Given the description of an element on the screen output the (x, y) to click on. 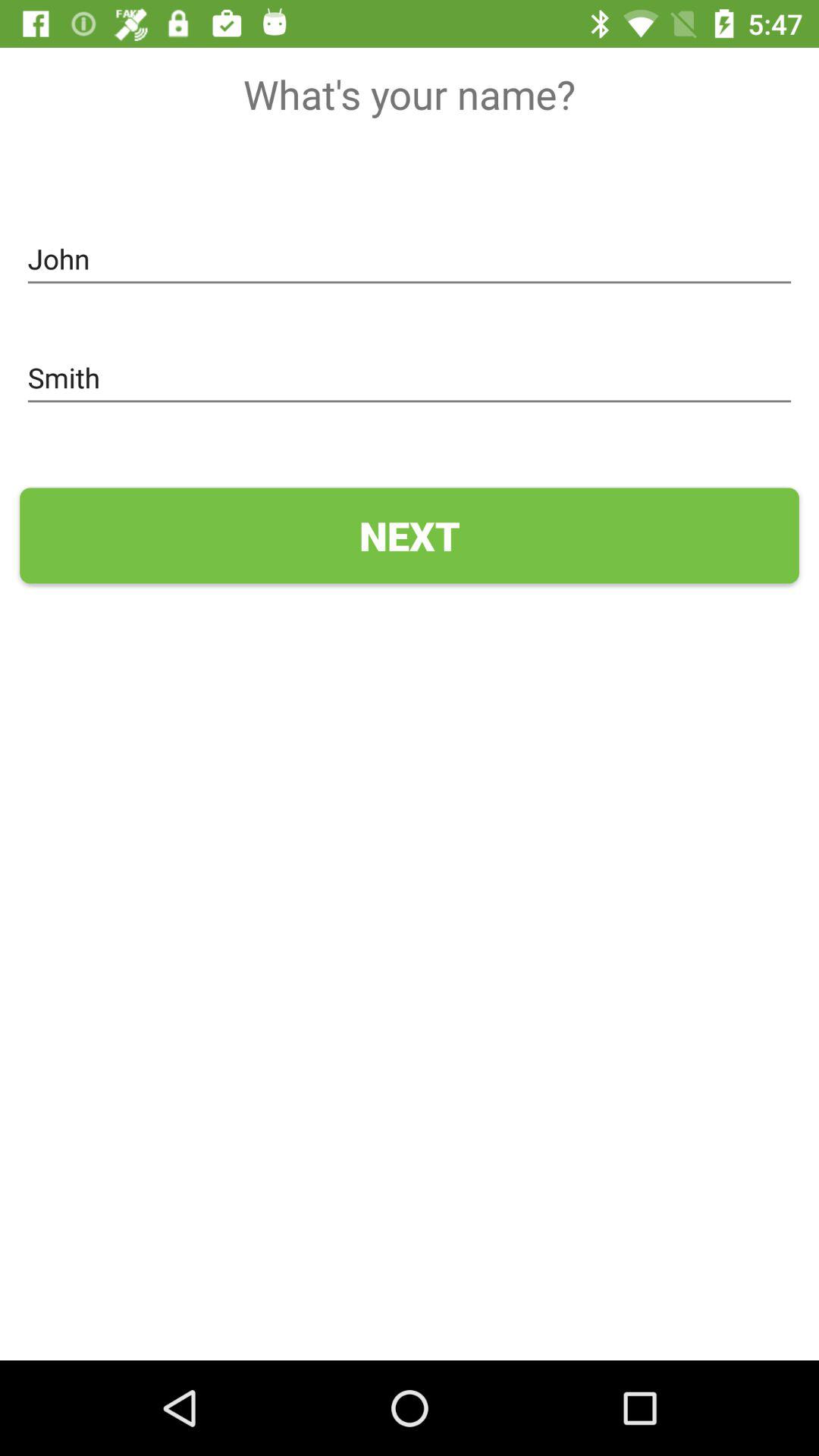
click next icon (409, 535)
